Given the description of an element on the screen output the (x, y) to click on. 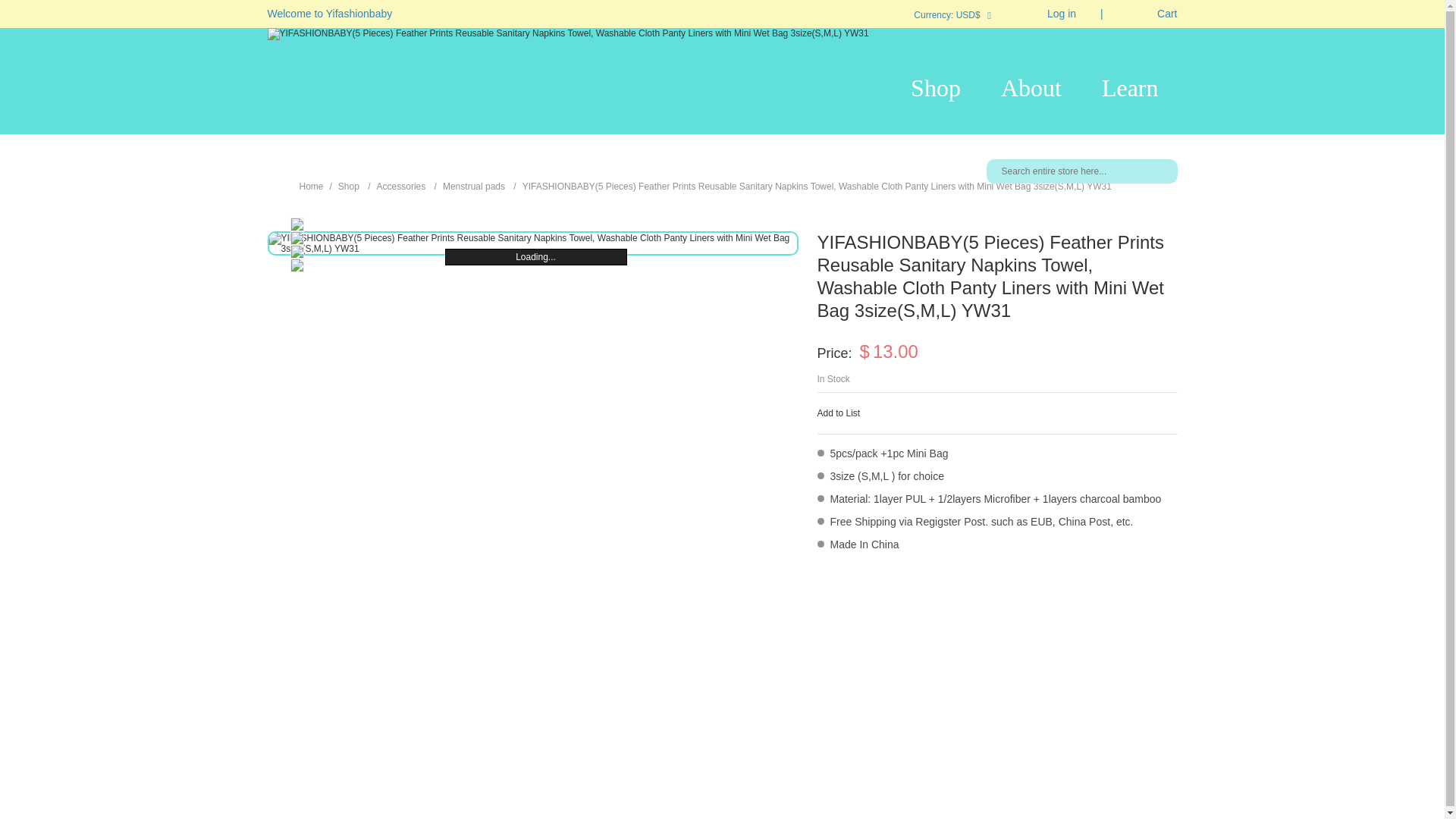
Log in (1045, 13)
Shop (935, 87)
Menstrual pads (473, 185)
Shop (348, 185)
Accessories (401, 185)
